Given the description of an element on the screen output the (x, y) to click on. 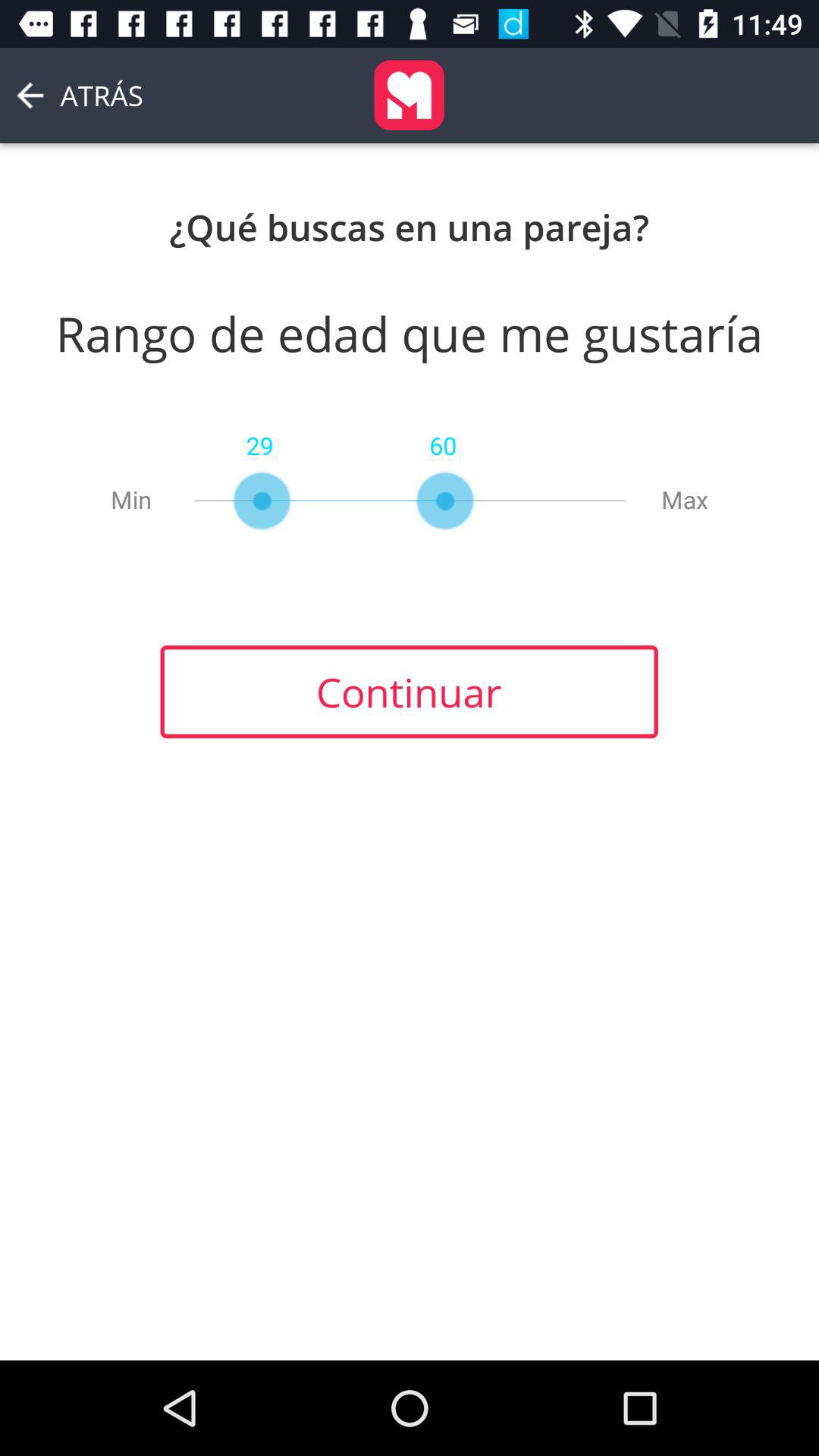
scroll until continuar (409, 691)
